Given the description of an element on the screen output the (x, y) to click on. 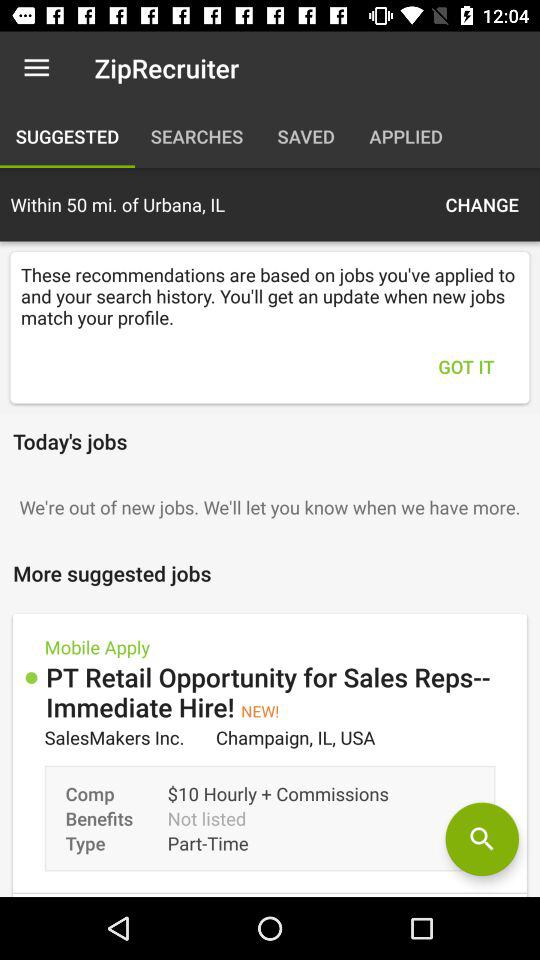
open the icon above today's jobs icon (466, 366)
